Given the description of an element on the screen output the (x, y) to click on. 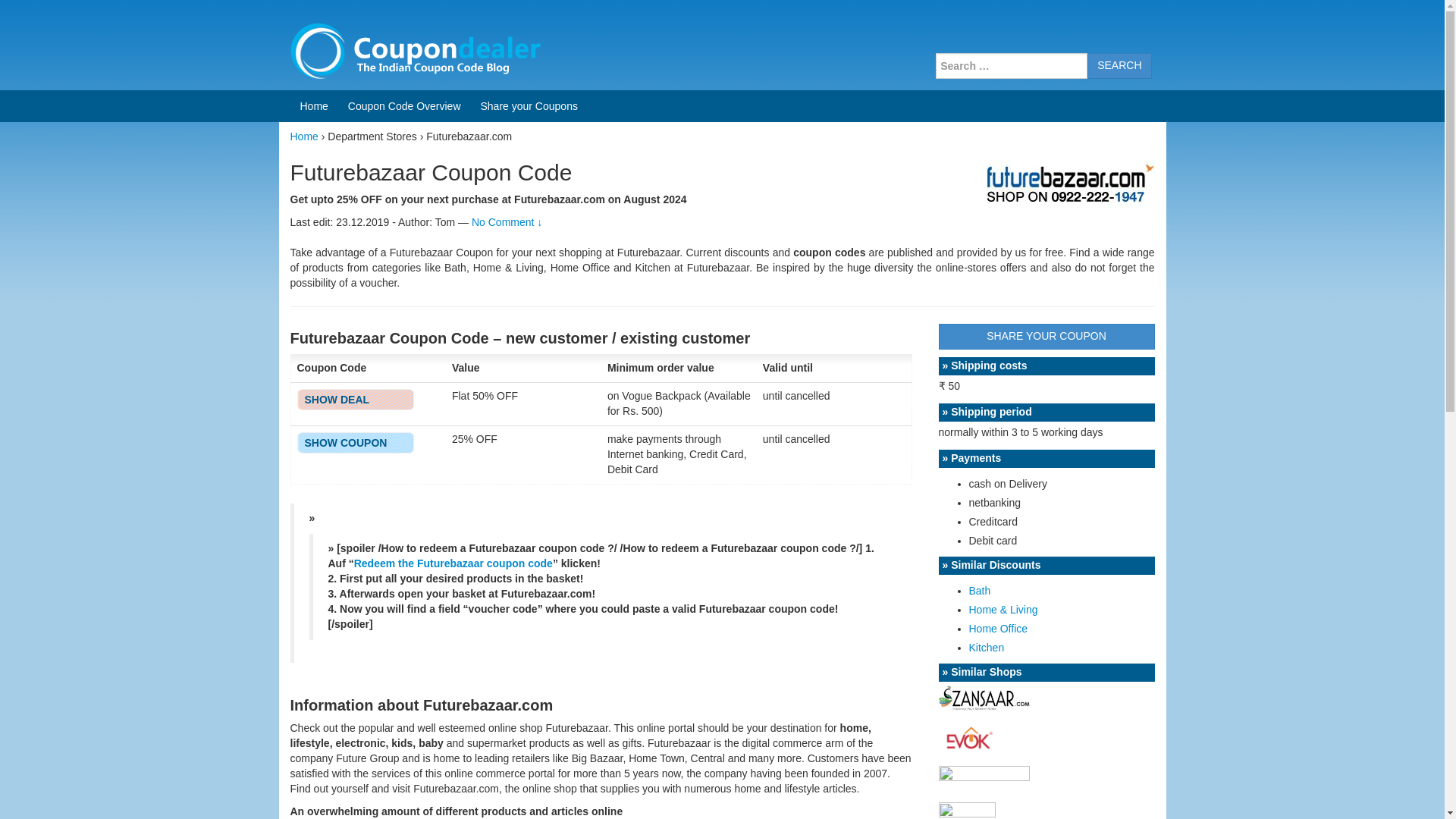
change to Evok Coupon Codes (968, 736)
Redeem the Futurebazaar coupon code (453, 563)
Home (314, 105)
SEARCH (1119, 65)
SHARE YOUR COUPON (1046, 336)
Show all Coupon Codes in Kitchen (986, 647)
Bath (980, 590)
Kitchen (986, 647)
Search for: (1011, 65)
Show all Coupon Codes in Bath (980, 590)
ICICIFB (342, 442)
change to Shopclues-coupons Coupon Codes (984, 775)
Home Office (998, 628)
SEARCH (1119, 65)
Home (303, 136)
